Given the description of an element on the screen output the (x, y) to click on. 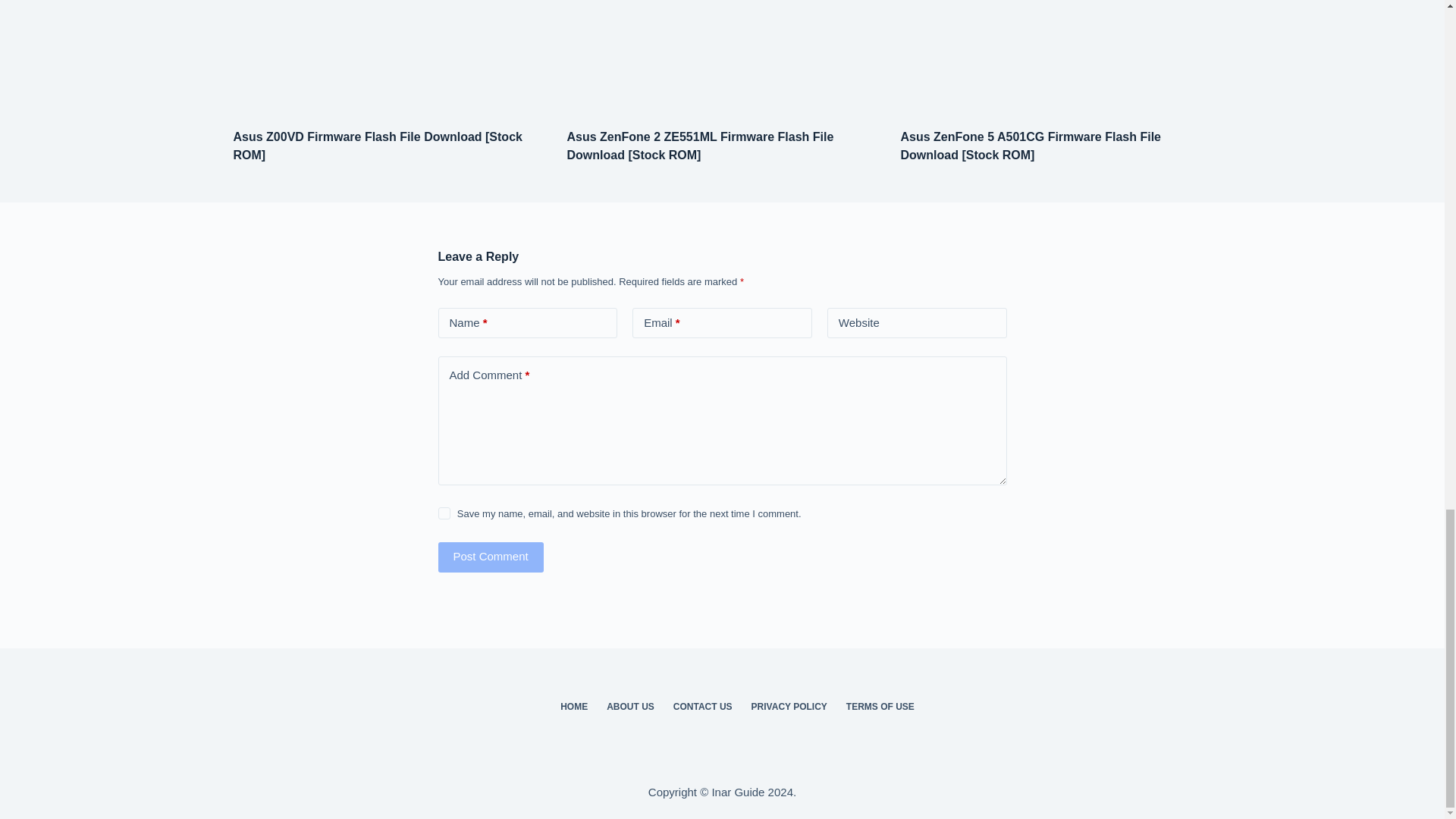
CONTACT US (702, 707)
ABOUT US (629, 707)
HOME (573, 707)
Post Comment (490, 557)
TERMS OF USE (879, 707)
PRIVACY POLICY (788, 707)
yes (443, 512)
